Given the description of an element on the screen output the (x, y) to click on. 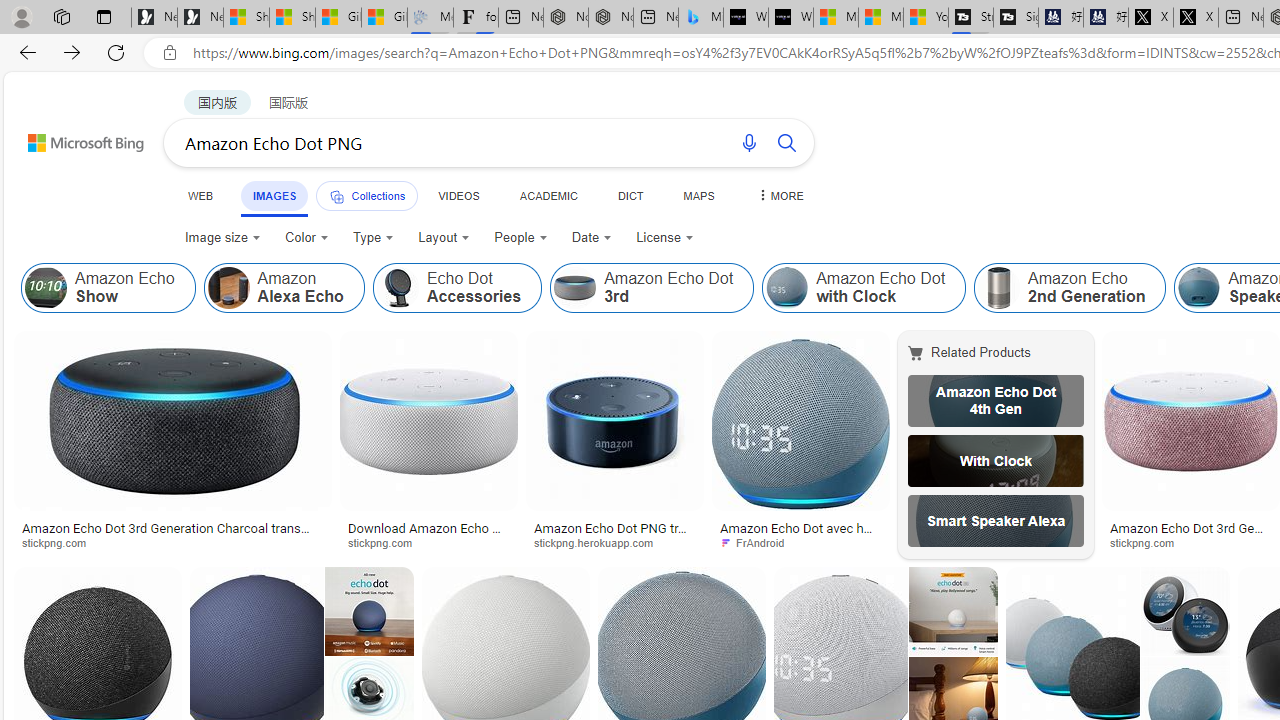
Streaming Coverage | T3 (970, 17)
FrAndroid (800, 542)
Newsletter Sign Up (199, 17)
Microsoft Start Sports (835, 17)
Image result for Amazon Echo Dot PNG (1191, 421)
Gilma and Hector both pose tropical trouble for Hawaii (384, 17)
Class: b_pri_nav_svg (336, 196)
